Given the description of an element on the screen output the (x, y) to click on. 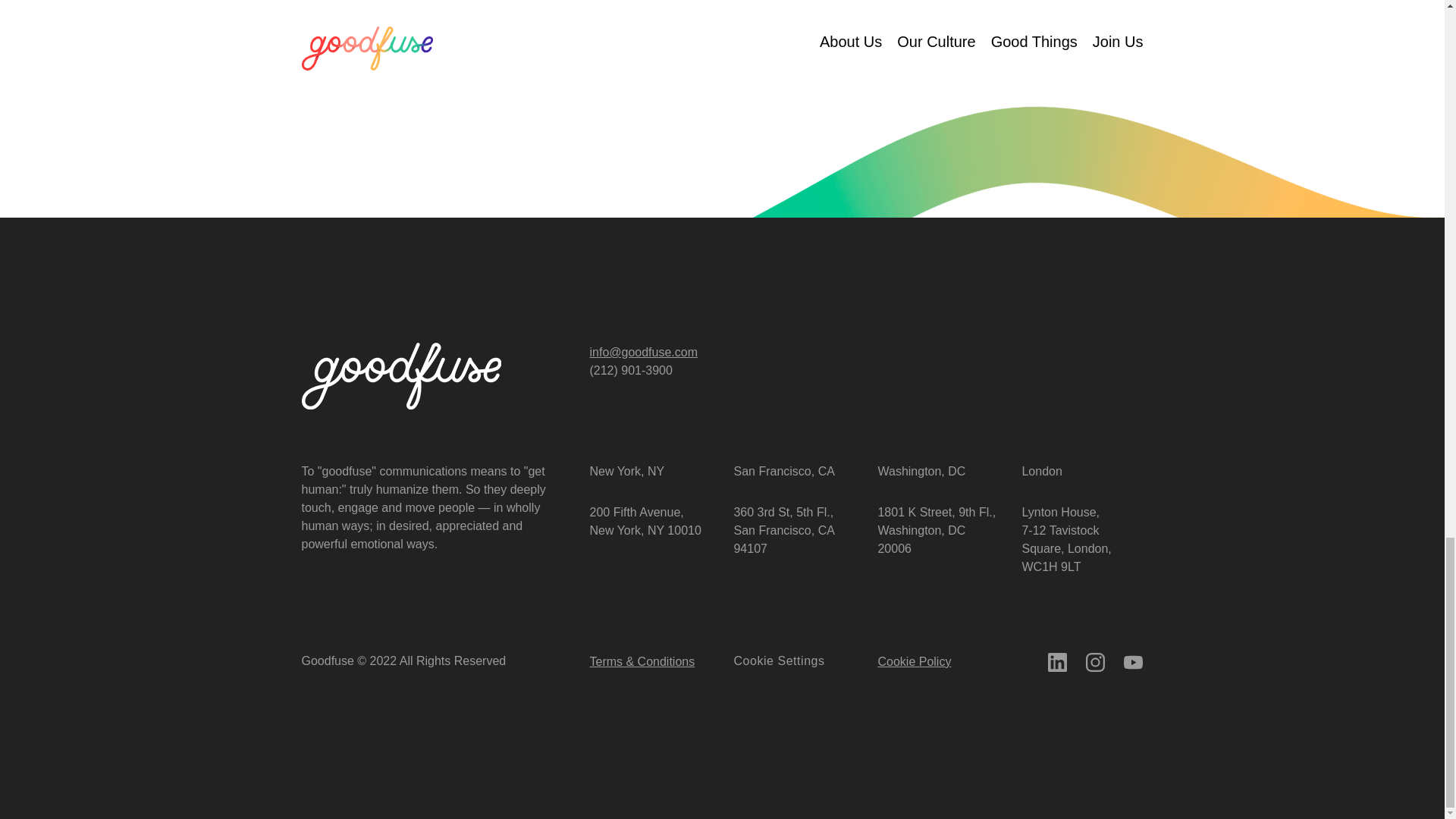
Cookie Policy (913, 661)
Cookie Settings (778, 661)
